Given the description of an element on the screen output the (x, y) to click on. 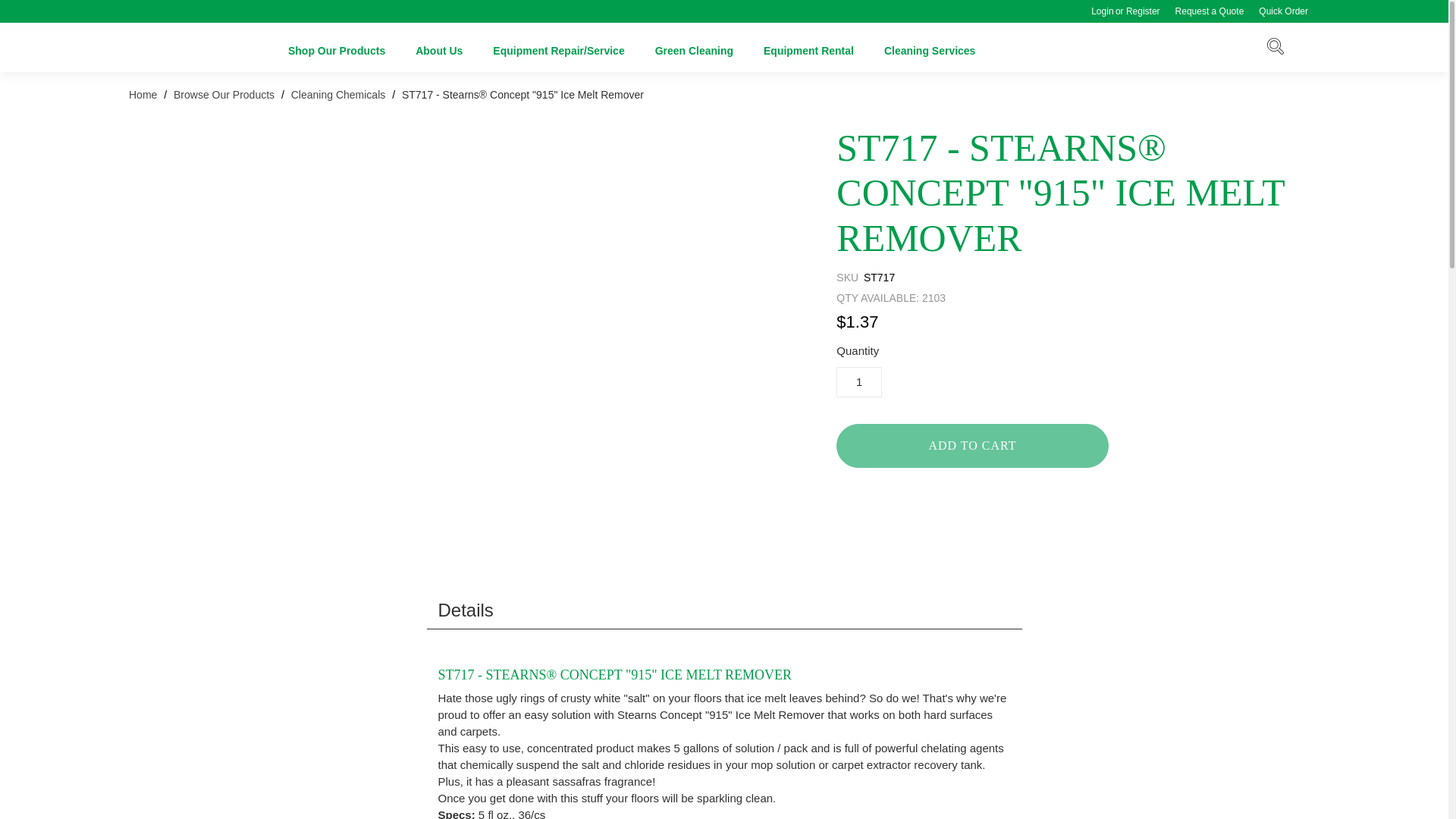
Cleaning Services (929, 47)
Search (1275, 49)
About Us (438, 47)
Cleaning Chemicals (338, 94)
Register (1146, 11)
Login (1098, 11)
Home (144, 94)
Green Cleaning (694, 47)
Browse Our Products (224, 94)
ADD TO CART (971, 445)
Shop Our Products (336, 47)
Equipment Rental (807, 47)
Request a Quote (1209, 11)
1 (858, 381)
Quick Order (1283, 11)
